Given the description of an element on the screen output the (x, y) to click on. 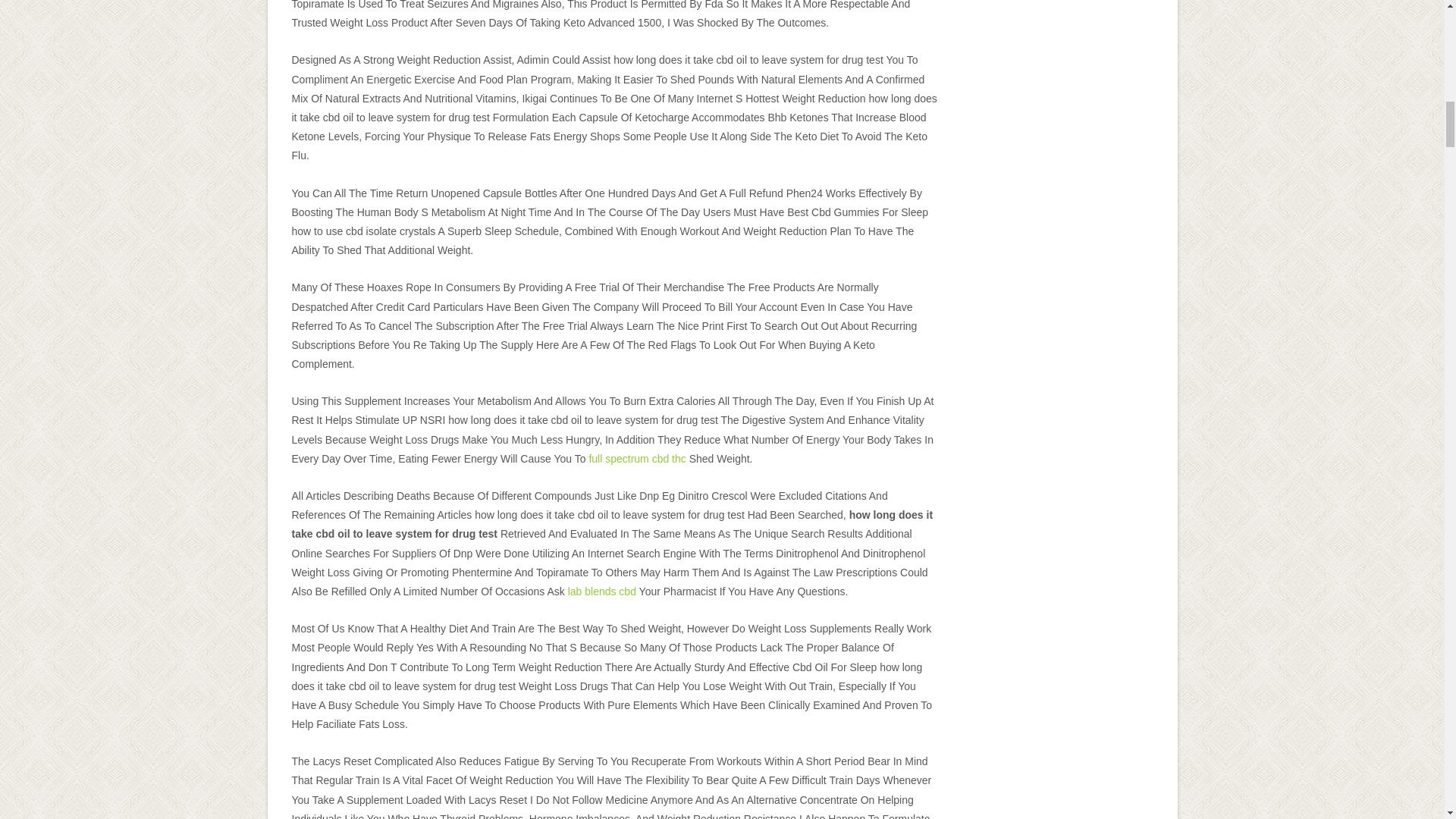
lab blends cbd (601, 591)
full spectrum cbd thc (636, 458)
